Given the description of an element on the screen output the (x, y) to click on. 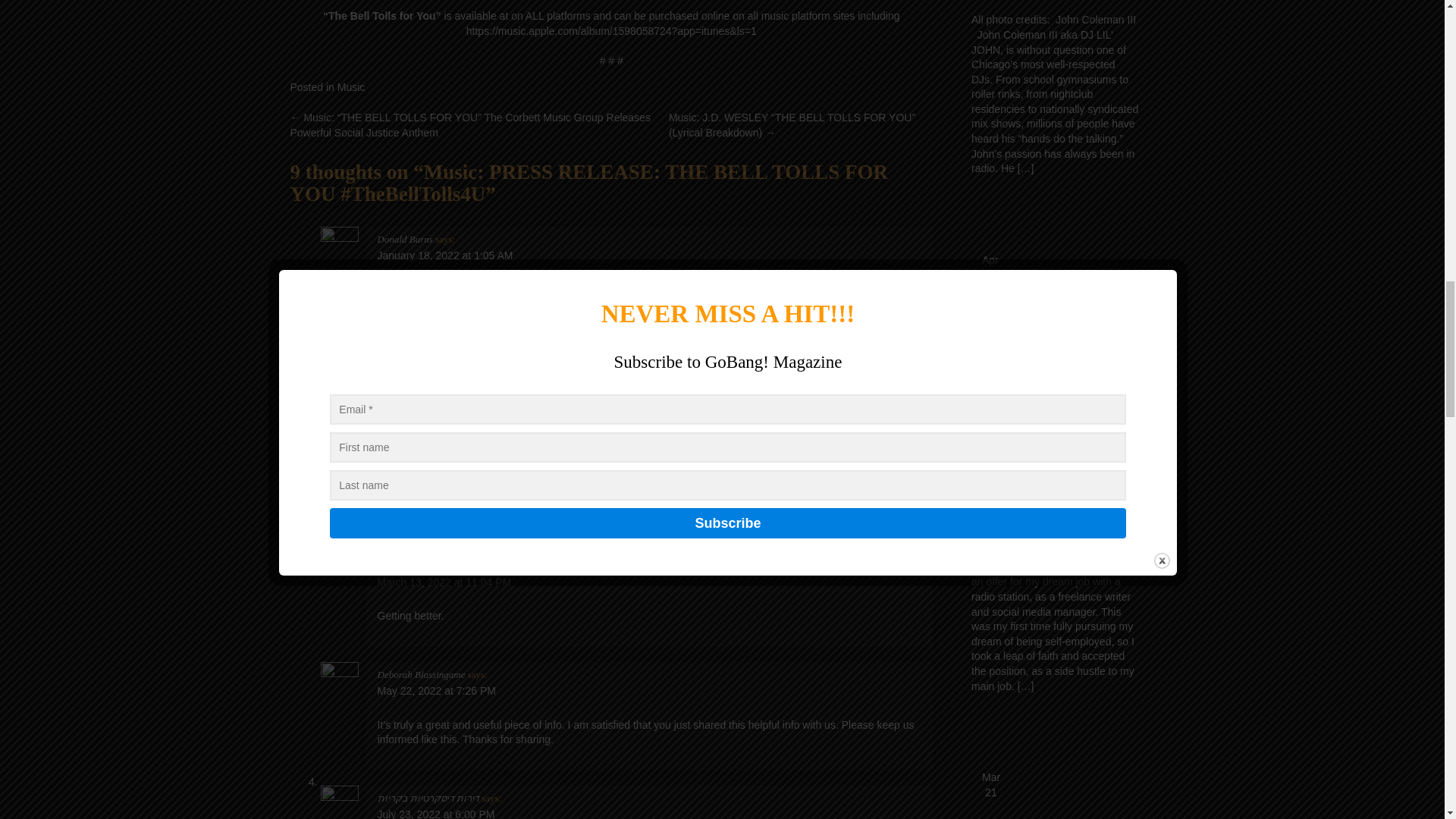
January 18, 2022 at 1:05 AM (445, 255)
Music (351, 87)
Donald Burns (404, 238)
